Given the description of an element on the screen output the (x, y) to click on. 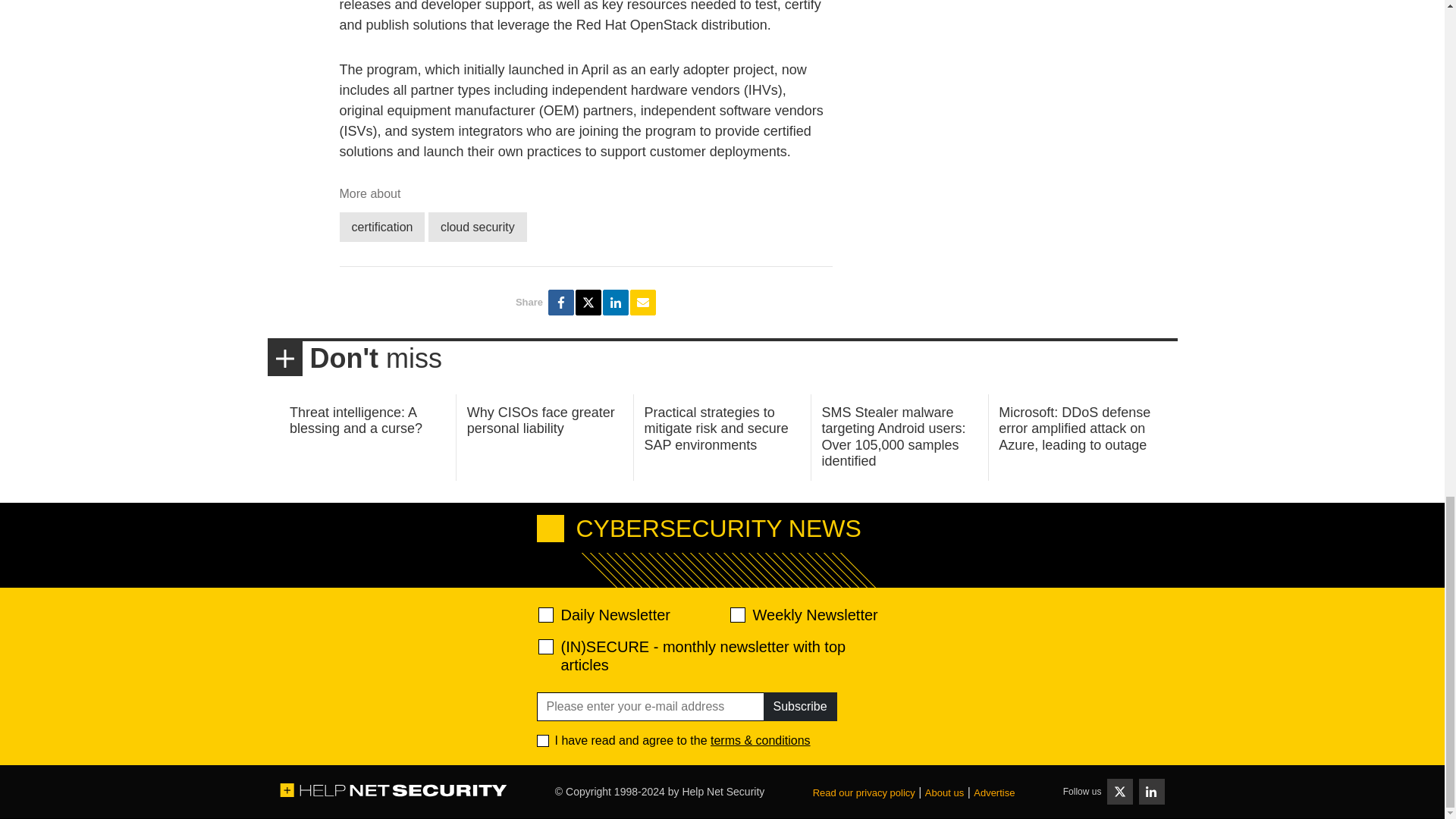
cloud security (477, 226)
Why CISOs face greater personal liability (540, 420)
certification (382, 226)
1 (542, 740)
certification (382, 226)
Threat intelligence: A blessing and a curse? (355, 420)
28abe5d9ef (545, 646)
cloud security (477, 226)
d2d471aafa (736, 614)
